Given the description of an element on the screen output the (x, y) to click on. 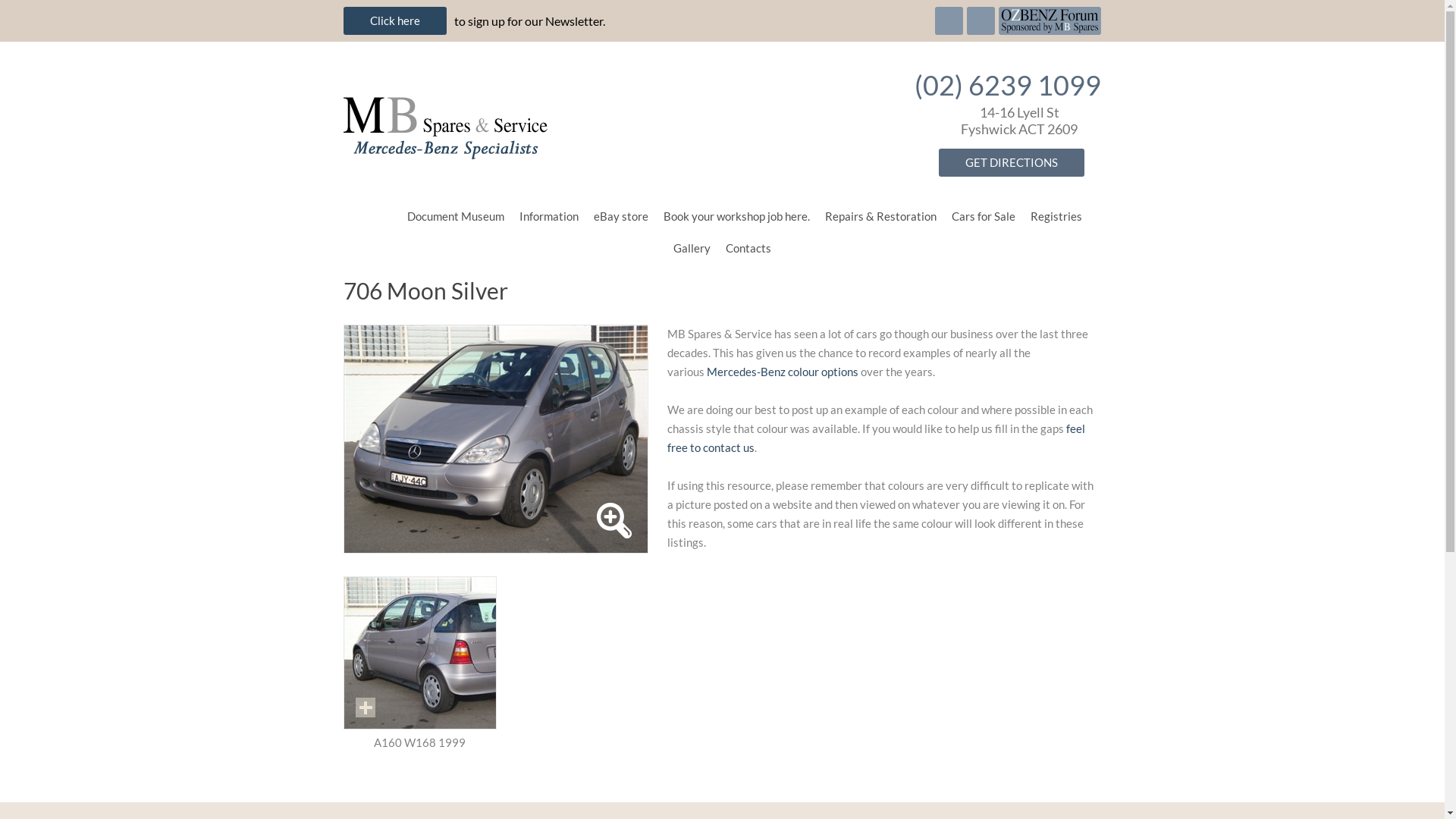
Repairs & Restoration Element type: text (880, 216)
Document Museum Element type: text (454, 216)
feel free to contact us Element type: text (876, 437)
Contacts Element type: text (748, 247)
OZBenz Forum Element type: hover (1049, 18)
Click to View Images Element type: hover (364, 707)
Cars for Sale Element type: text (982, 216)
Information Element type: text (548, 216)
eBay store Element type: text (620, 216)
Mercedes-Benz colour options Element type: text (782, 371)
Gallery Element type: text (691, 247)
Click here Element type: text (393, 20)
Book your workshop job here. Element type: text (735, 216)
MB Spares & Service - Mercedes-Benz Specialists Element type: hover (591, 120)
A160 W168 1999 Element type: hover (418, 652)
Roll-over to View Images Element type: hover (614, 520)
GET DIRECTIONS Element type: text (1011, 162)
Registries Element type: text (1055, 216)
